Given the description of an element on the screen output the (x, y) to click on. 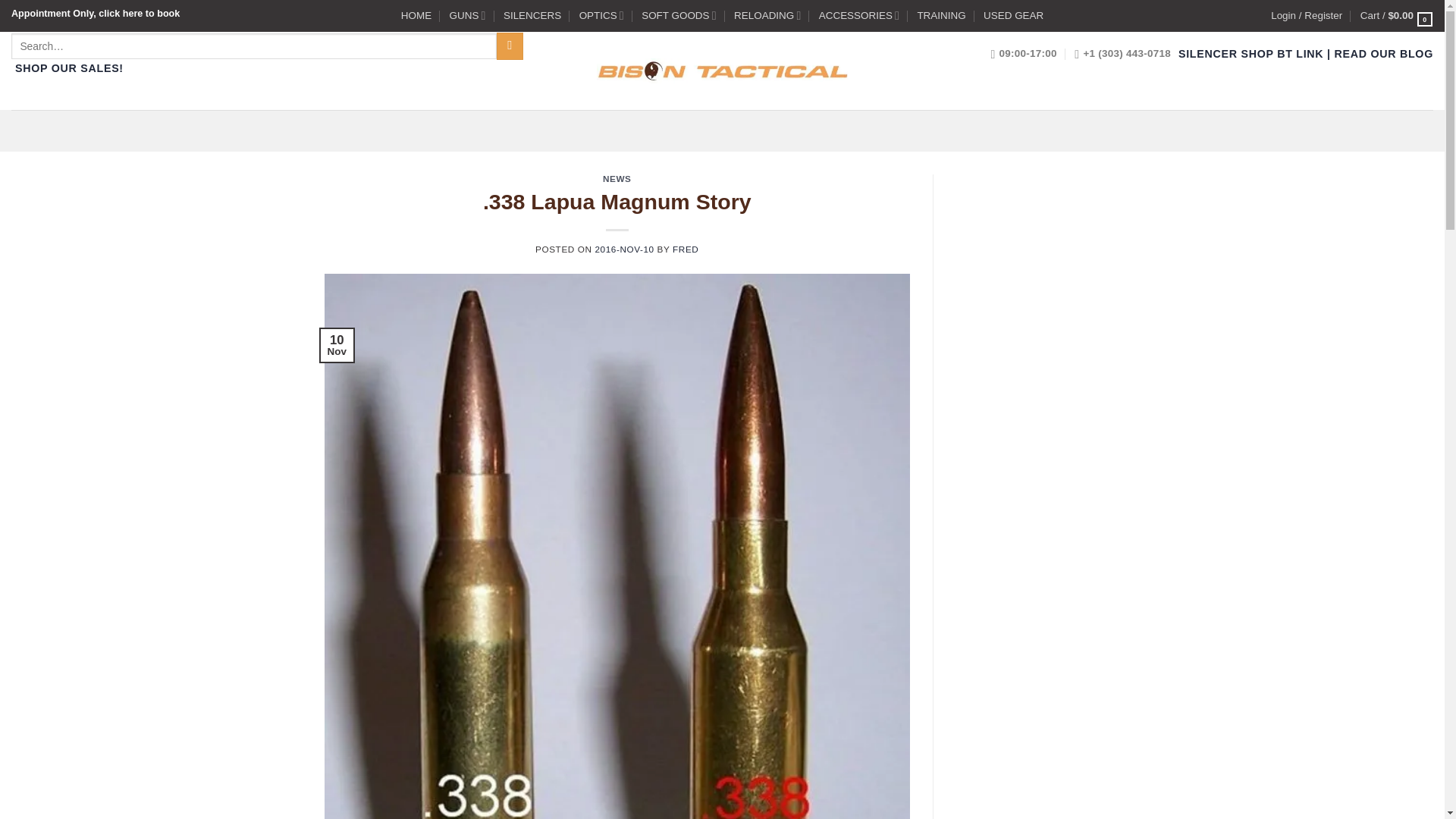
HOME (415, 15)
Cart (1395, 15)
Bison Tactical - Competition Proven Gear (721, 70)
ACCESSORIES (858, 15)
Login (1306, 15)
RELOADING (766, 15)
GUNS (467, 15)
OPTICS (601, 15)
Bison Tactical Homepage (415, 15)
USED GEAR (1013, 15)
